Given the description of an element on the screen output the (x, y) to click on. 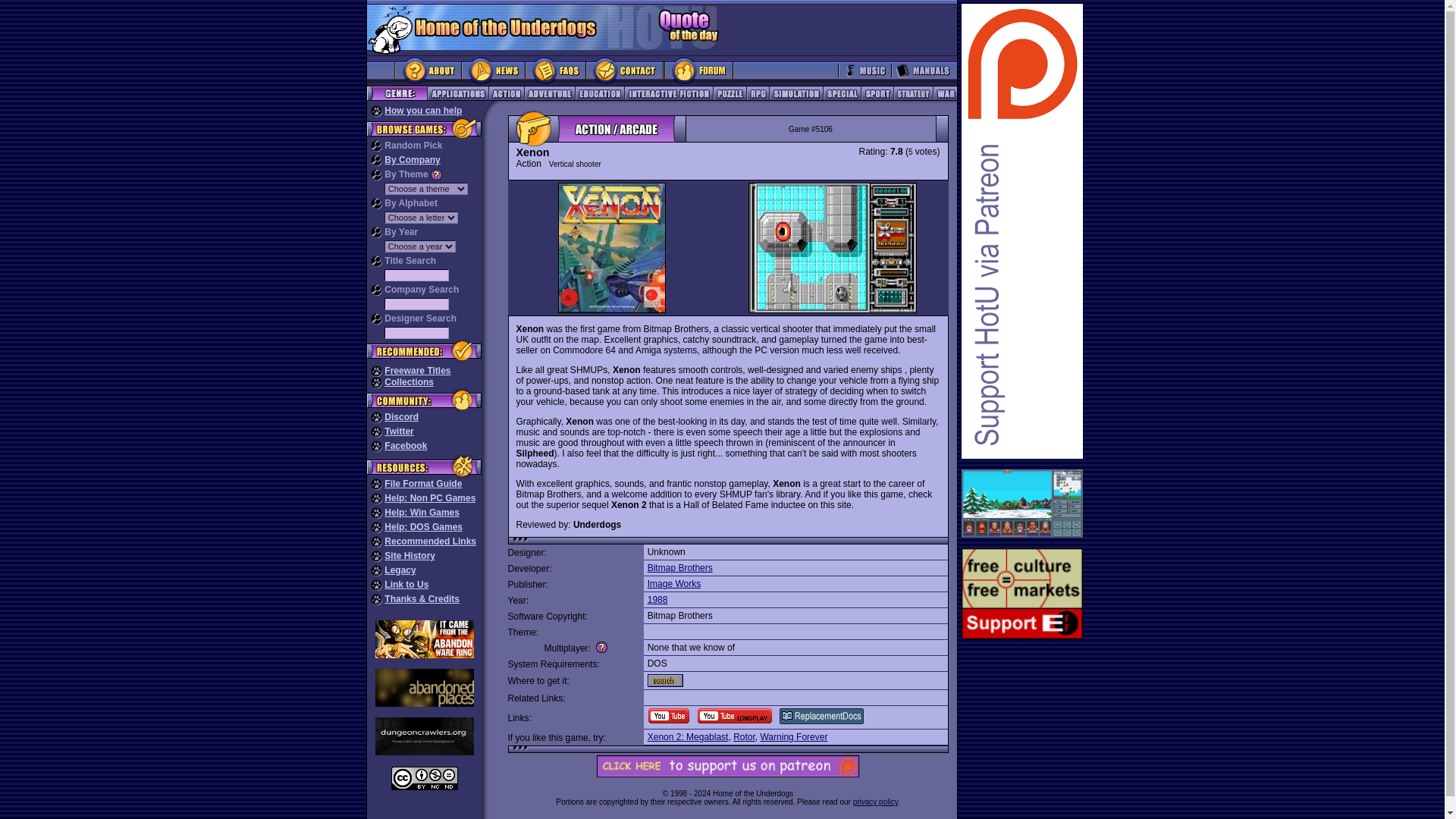
Site History (409, 555)
Help: DOS Games (423, 526)
Freeware Titles (416, 370)
By Company (411, 159)
Twitter (398, 430)
Facebook (405, 445)
How you can help (422, 110)
Recommended Links (430, 541)
Discord (401, 416)
Collections (408, 381)
